Given the description of an element on the screen output the (x, y) to click on. 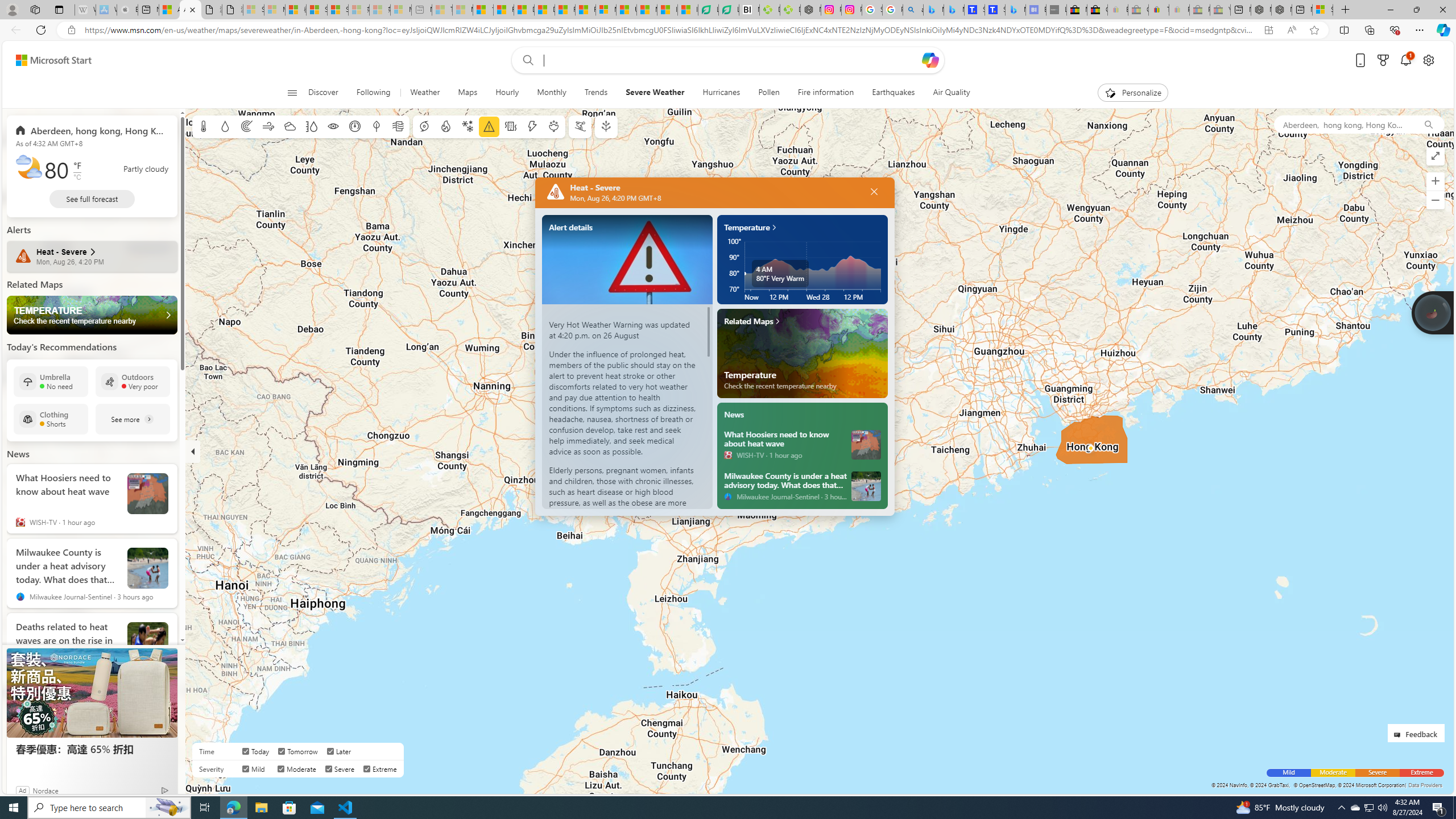
Wikipedia - Sleeping (84, 9)
Enter full screen mode (1435, 156)
Temperature (802, 222)
See full forecast (92, 199)
Hurricanes (721, 92)
Yard, Garden & Outdoor Living - Sleeping (1219, 9)
Class: feedback_link_icon-DS-EntryPoint1-1 (1399, 734)
Zoom out (1435, 199)
Class: button-glyph (292, 92)
Earthquakes (893, 92)
Skip to footer (46, 59)
